Given the description of an element on the screen output the (x, y) to click on. 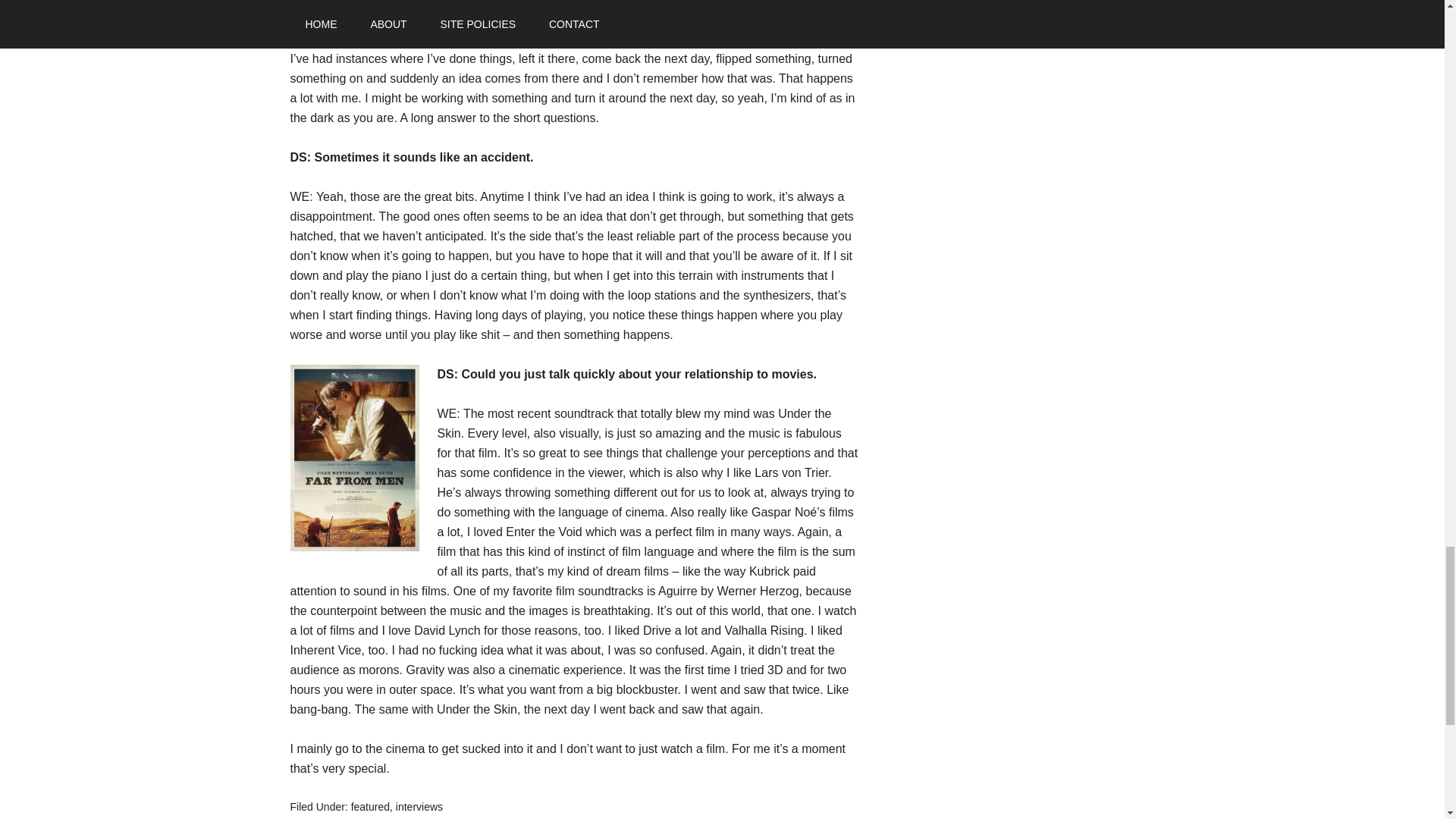
featured (370, 806)
music (580, 818)
nick cave (620, 818)
film scoring (382, 818)
Loin des Hommes (516, 818)
interviews (419, 806)
grinderman (441, 818)
